Given the description of an element on the screen output the (x, y) to click on. 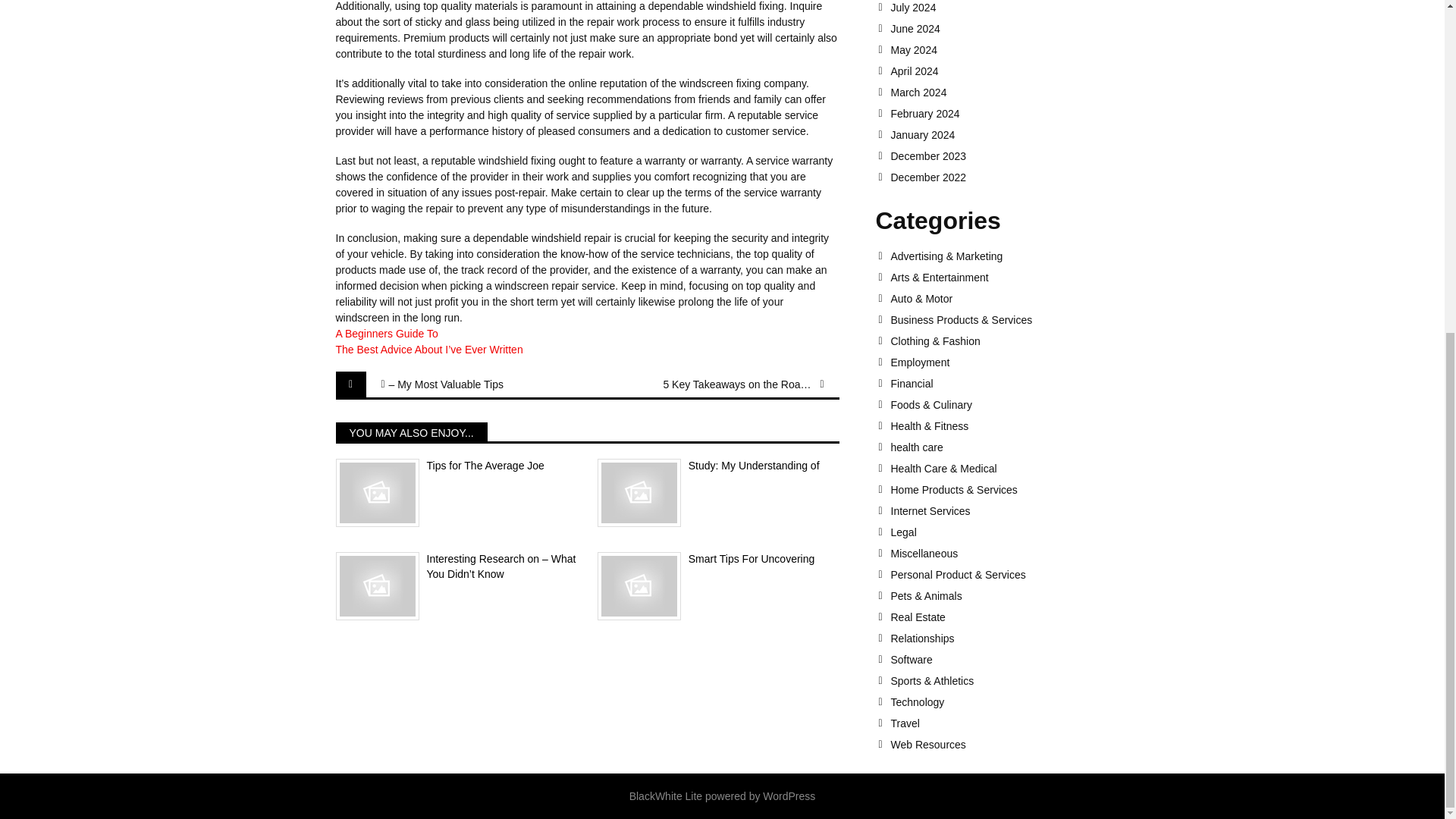
April 2024 (998, 70)
Smart Tips For Uncovering (718, 559)
July 2024 (998, 7)
December 2022 (998, 177)
March 2024 (998, 92)
June 2024 (998, 28)
May 2024 (998, 50)
Tips for The Average Joe (455, 466)
February 2024 (998, 113)
December 2023 (998, 155)
